Given the description of an element on the screen output the (x, y) to click on. 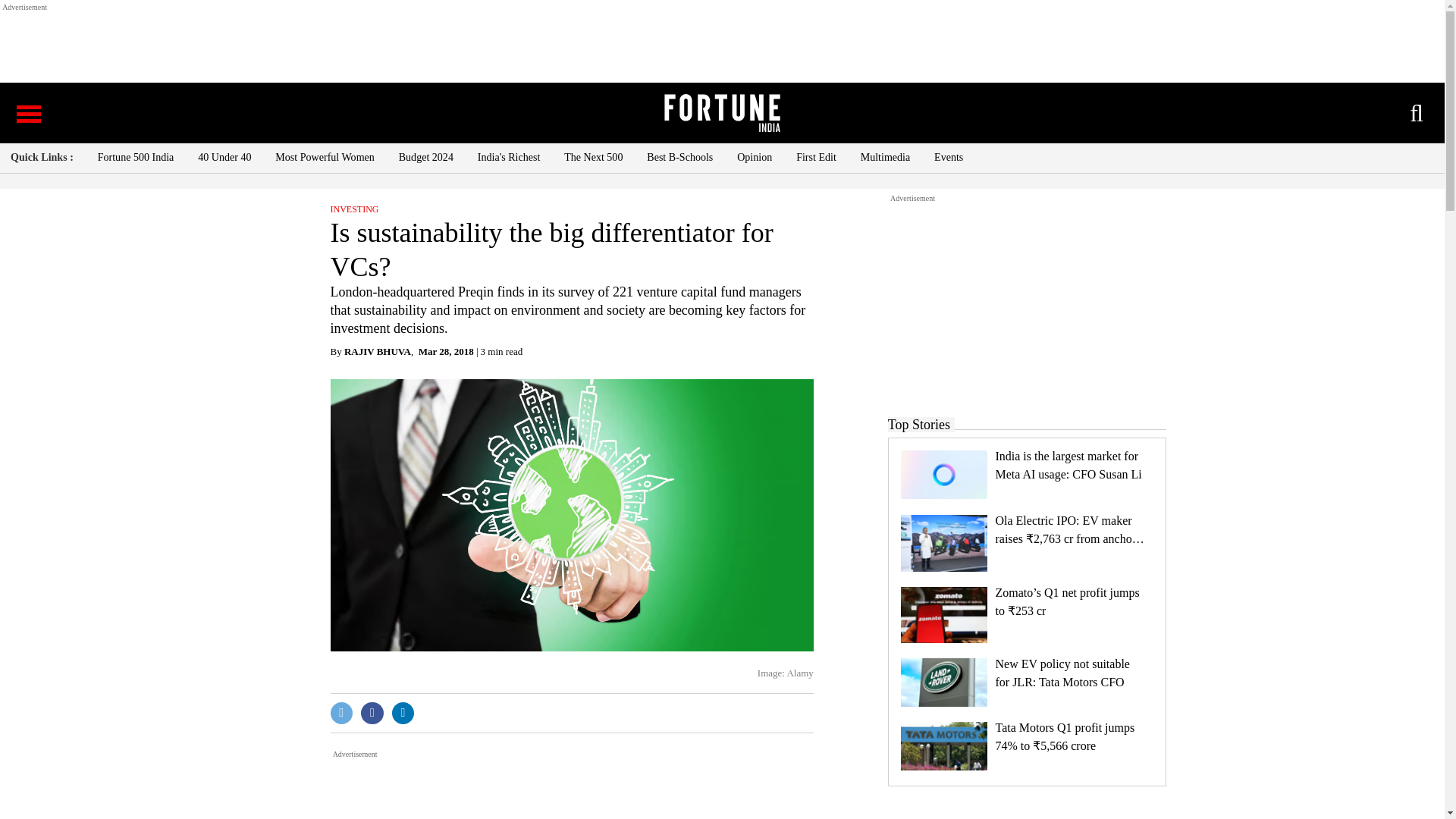
Budget 2024 (425, 157)
Best B-Schools (679, 157)
Most Powerful Women (324, 157)
Twitter (341, 712)
Multimedia (885, 157)
Events (948, 157)
Fortune 500 India (135, 157)
Facebook (372, 712)
Linkedin (402, 712)
Investing (354, 208)
FortuneIndia (721, 112)
India's Richest (508, 157)
First Edit (815, 157)
Opinion (753, 157)
40 Under 40 (224, 157)
